Given the description of an element on the screen output the (x, y) to click on. 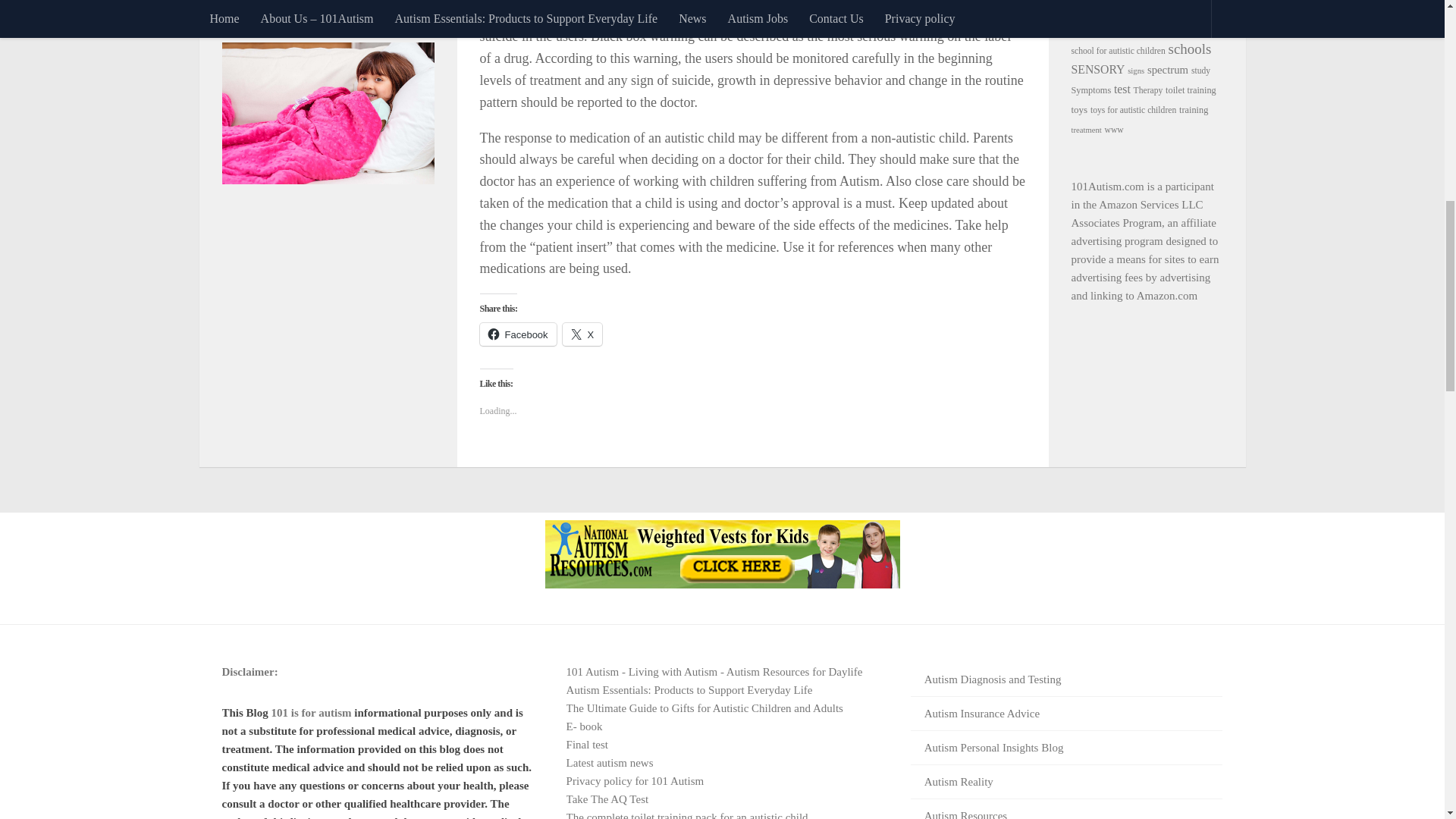
Click to share on Facebook (517, 333)
Click to share on X (582, 333)
